Given the description of an element on the screen output the (x, y) to click on. 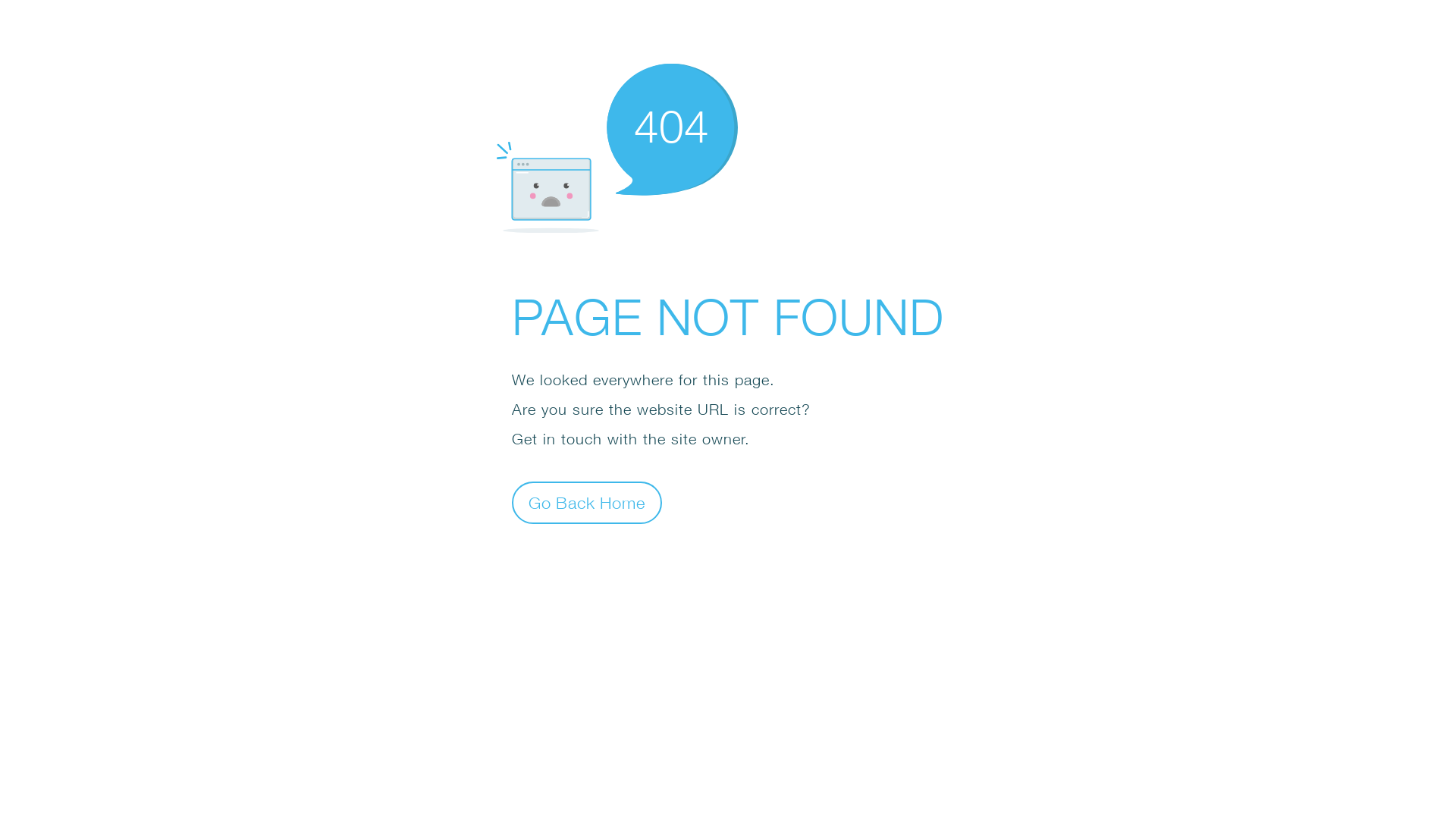
Go Back Home Element type: text (586, 502)
